Given the description of an element on the screen output the (x, y) to click on. 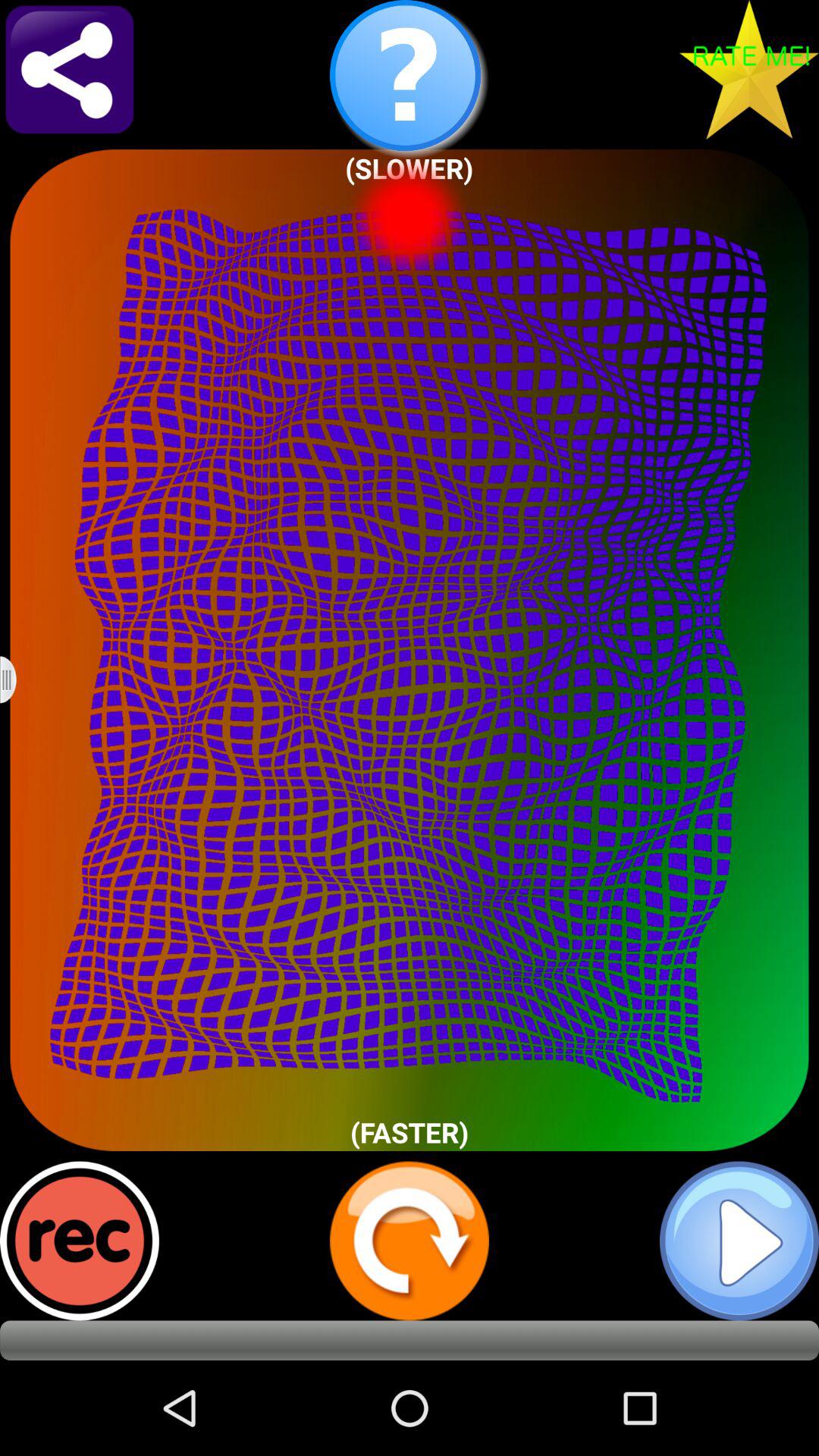
play video (739, 1240)
